Given the description of an element on the screen output the (x, y) to click on. 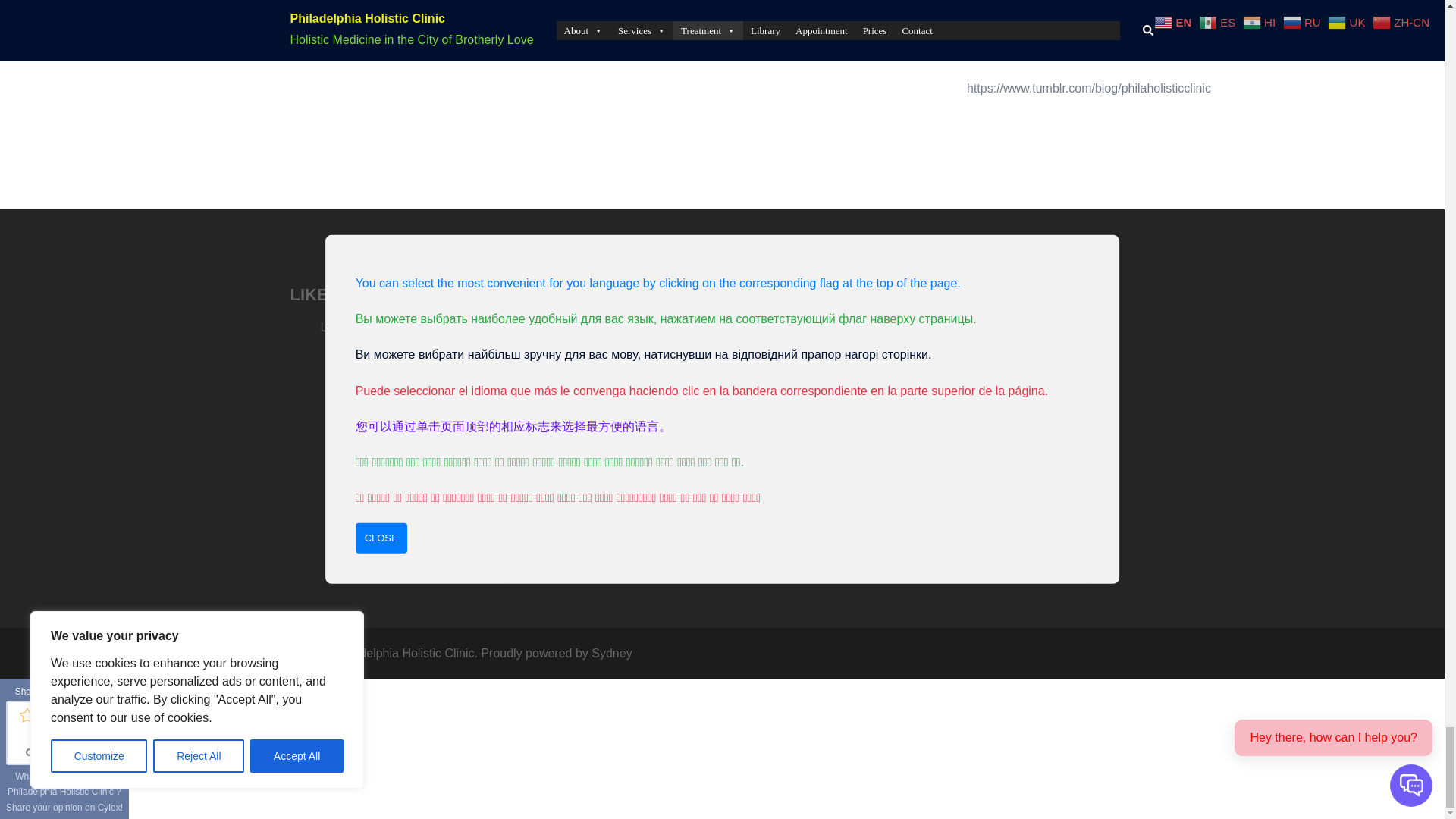
Philadelphia Holistic Clinic (63, 792)
Rated 3 of 5 Stars (64, 714)
Rated 5 of 5 Stars (102, 714)
Rated 1 of 5 Stars (25, 714)
Rated 2 of 5 Stars (45, 714)
Rated 4 of 5 Stars (83, 714)
Philadelphia Holistic Clinic (631, 470)
